Given the description of an element on the screen output the (x, y) to click on. 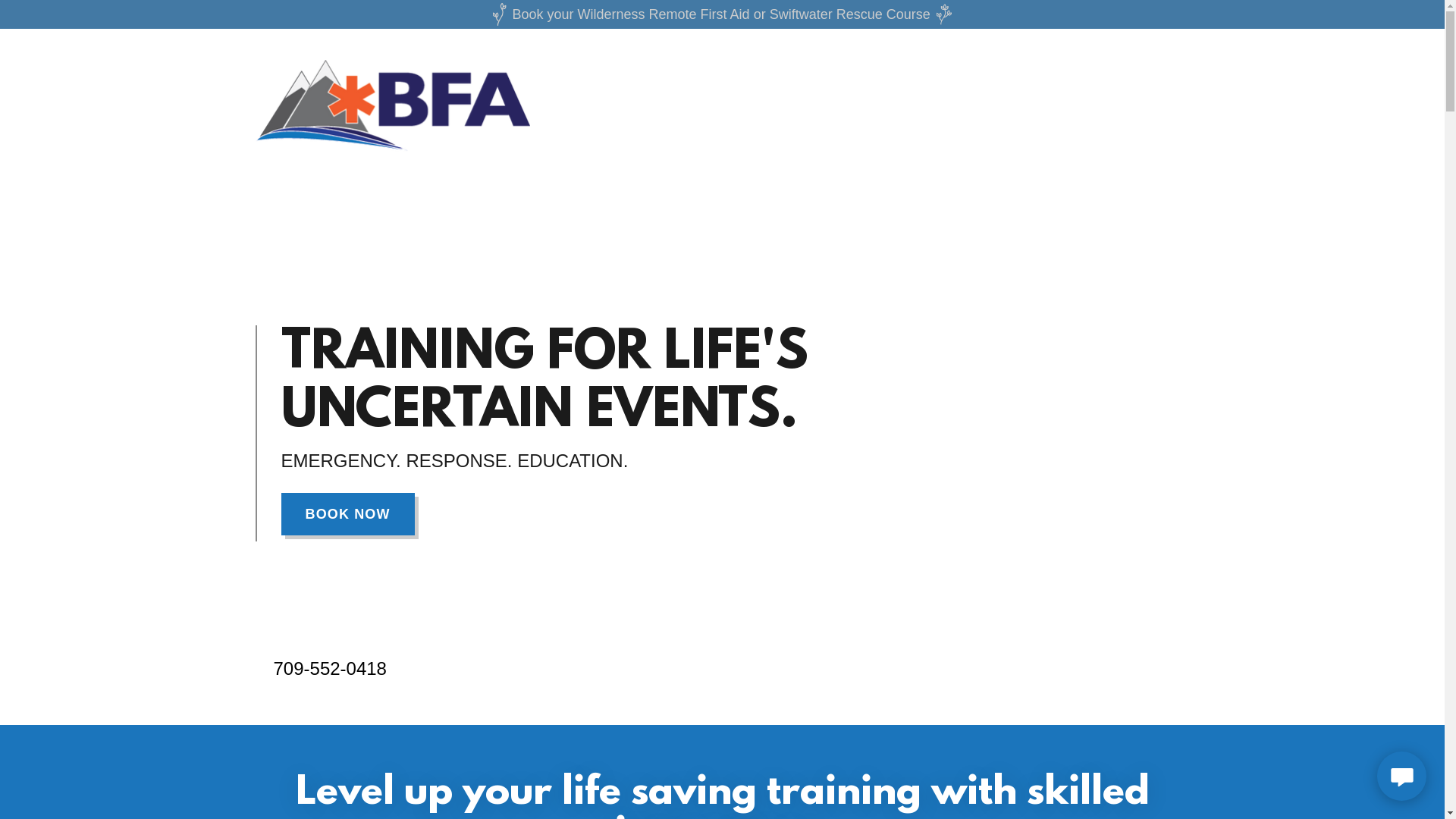
BOOK NOW Element type: text (347, 513)
BFA Canada Element type: hover (392, 65)
709-552-0418 Element type: text (329, 668)
